Given the description of an element on the screen output the (x, y) to click on. 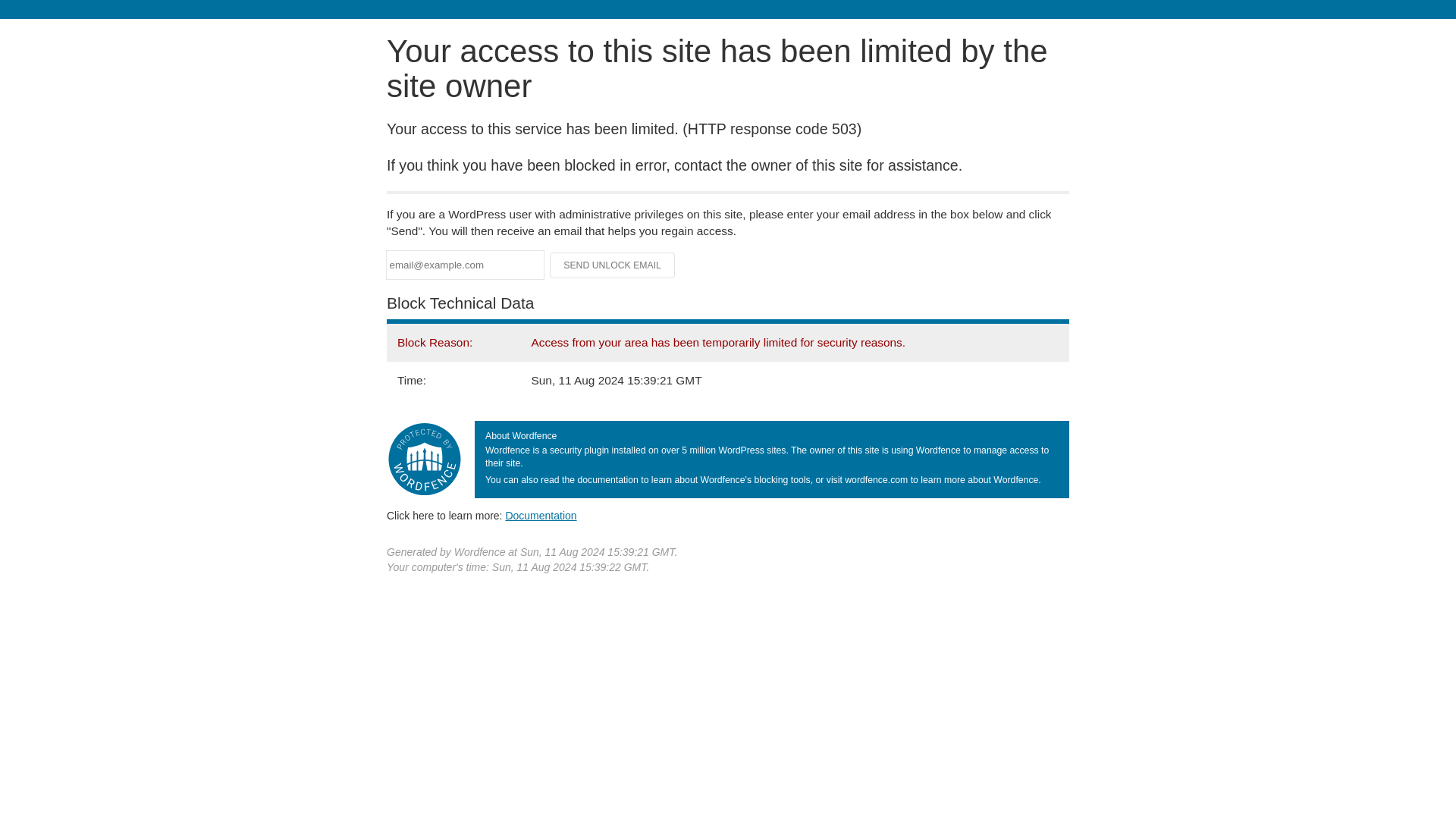
Documentation (540, 515)
Send Unlock Email (612, 265)
Send Unlock Email (612, 265)
